Given the description of an element on the screen output the (x, y) to click on. 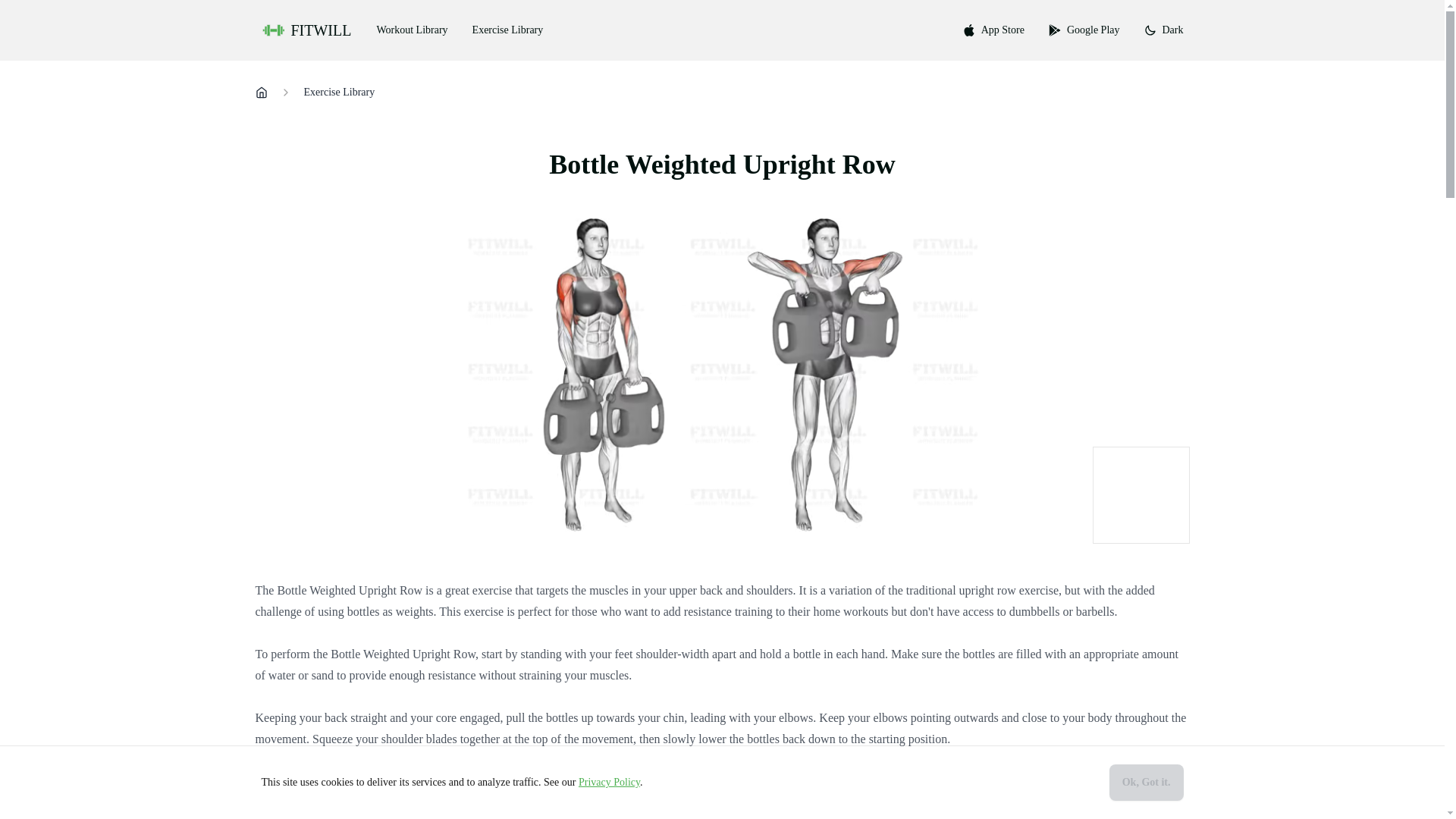
Exercise Library (338, 92)
Exercise Library (508, 30)
Ok, Got it. (1146, 782)
Get Fitwill on Google Play (1084, 30)
Home (260, 92)
Privacy Policy (609, 781)
Download Fitwill on the App Store (993, 30)
Workout Library (412, 30)
Dark (1163, 30)
QR Code: View in the Fitwill app (1140, 494)
